Given the description of an element on the screen output the (x, y) to click on. 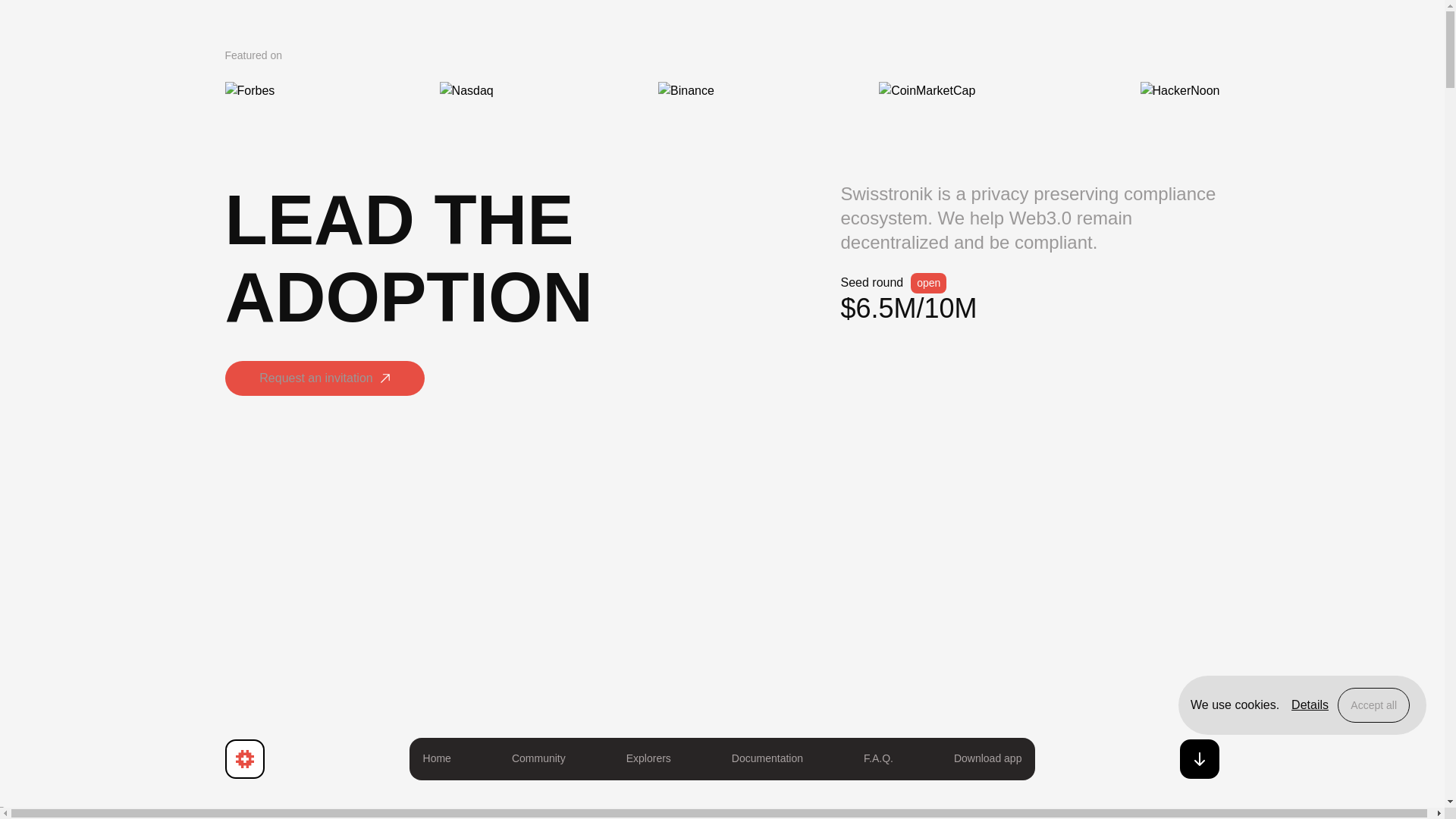
Request an invitation (323, 378)
